Given the description of an element on the screen output the (x, y) to click on. 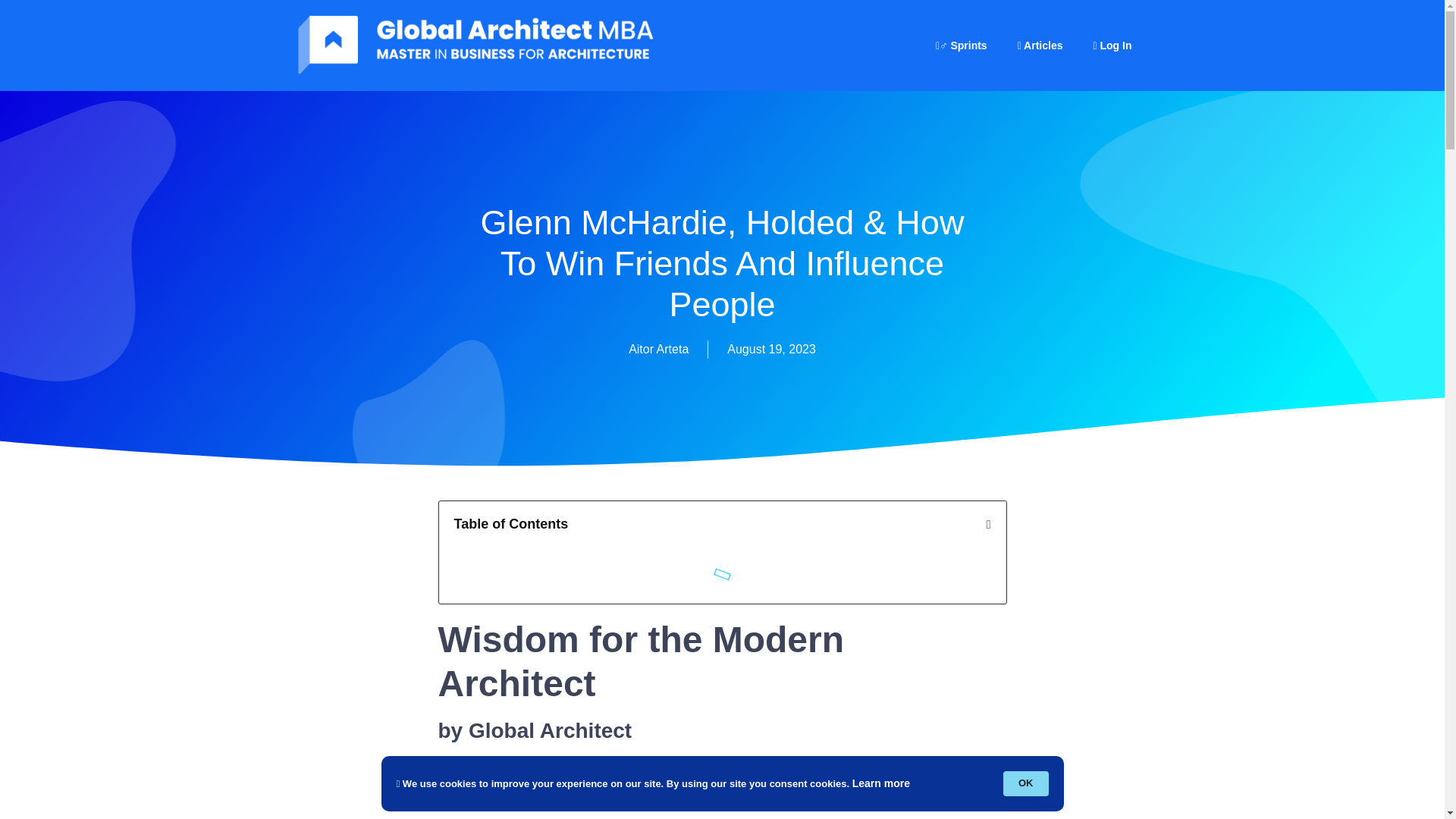
Learn more (880, 783)
August 19, 2023 (770, 349)
Aitor Arteta (658, 349)
